Given the description of an element on the screen output the (x, y) to click on. 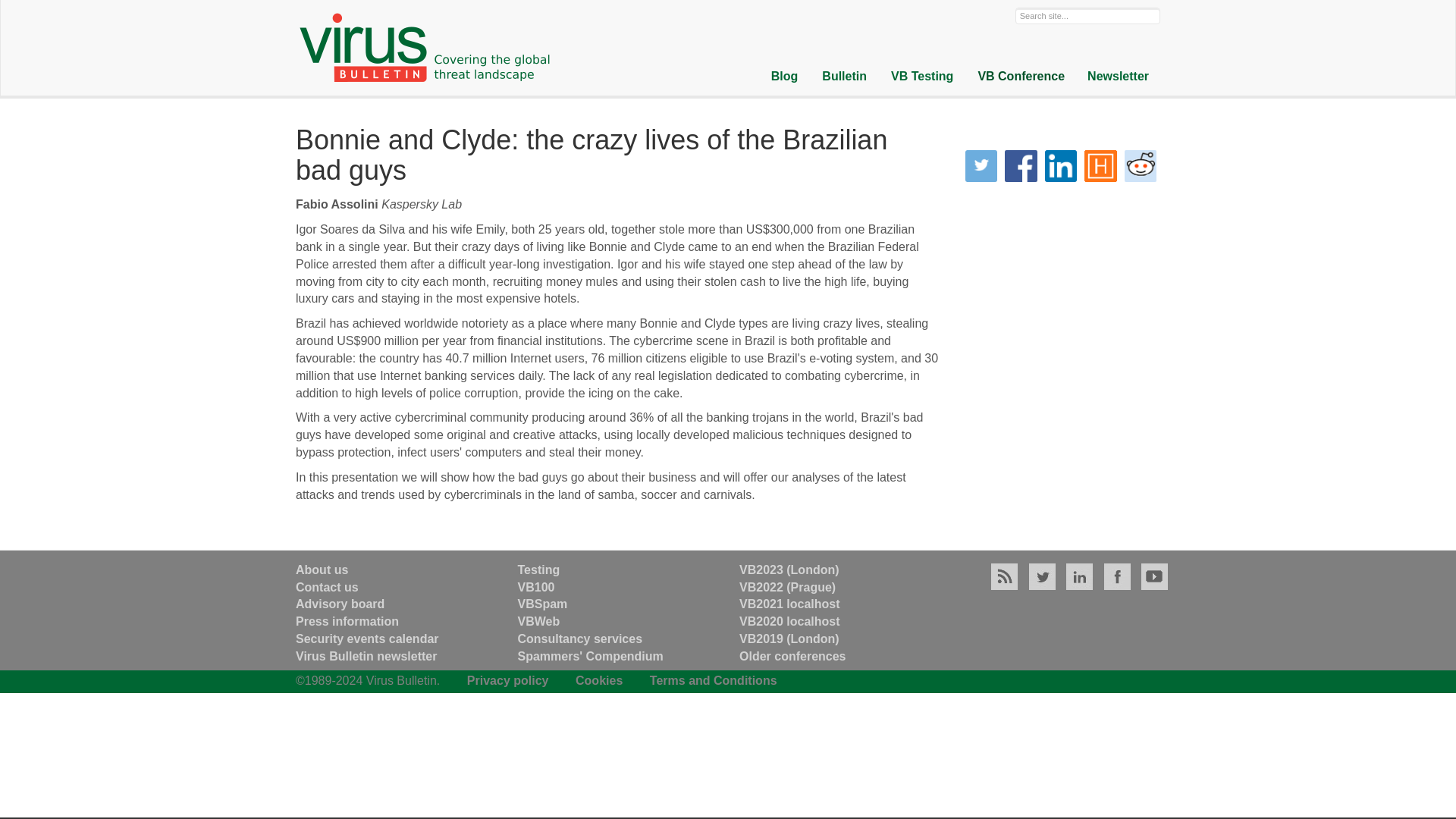
Contact Us (326, 586)
VB2023 (789, 569)
VBSpam (541, 603)
Testing (537, 569)
VB2021 localhost (789, 603)
VB100 (535, 586)
VB Testing (921, 76)
Consultancy Services (579, 638)
Older conferences (792, 656)
VB2022 (787, 586)
Spammers' Compendium (589, 656)
Share on Facebook (1021, 166)
Tweet this! (980, 166)
Advisory Board (339, 603)
VB2021 localhost (789, 603)
